Given the description of an element on the screen output the (x, y) to click on. 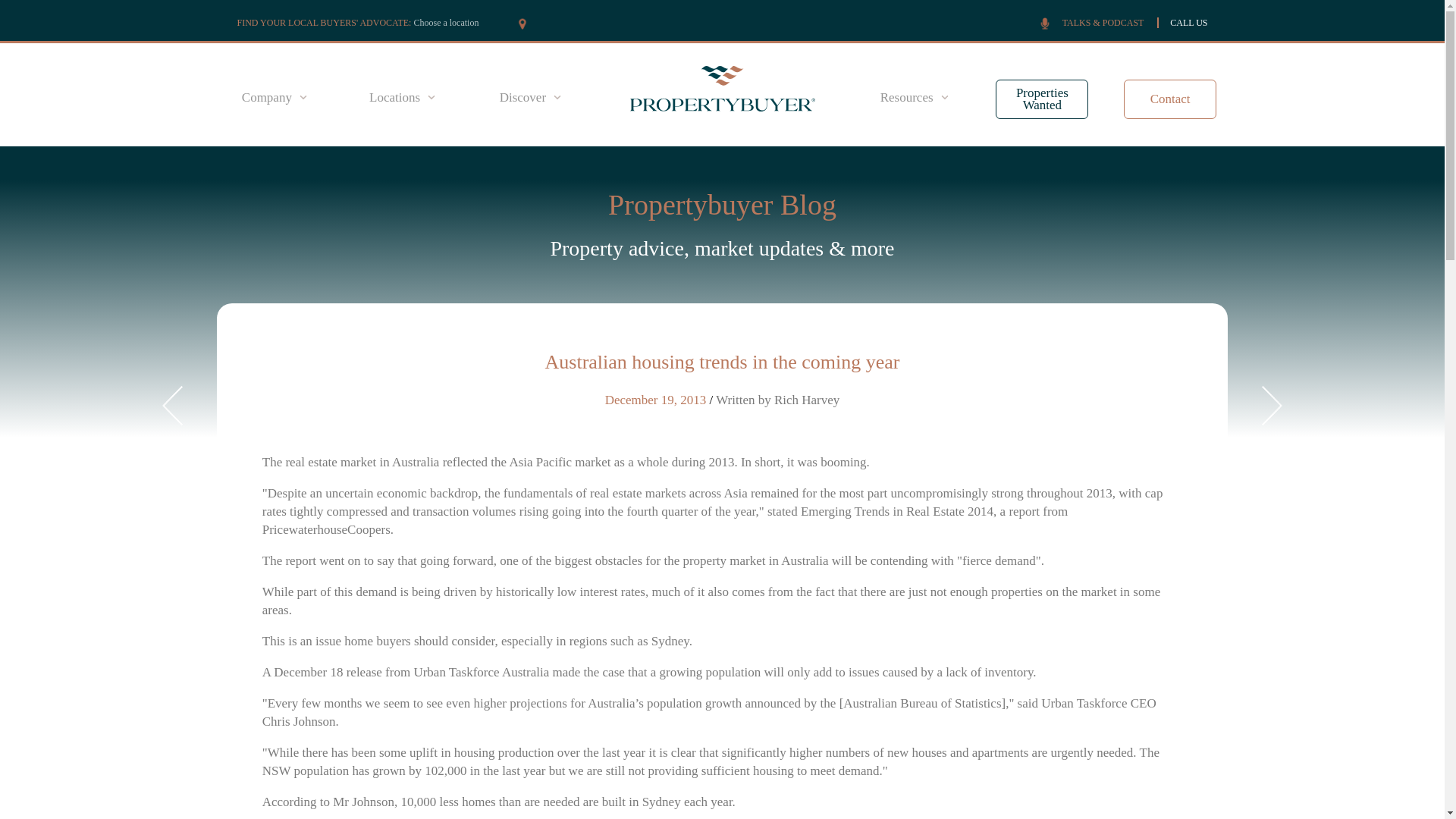
Discover (529, 97)
Contact (1170, 98)
Locations (402, 97)
CALL US (1188, 22)
Company (274, 97)
Resources (914, 97)
Properties Wanted (1042, 98)
